Given the description of an element on the screen output the (x, y) to click on. 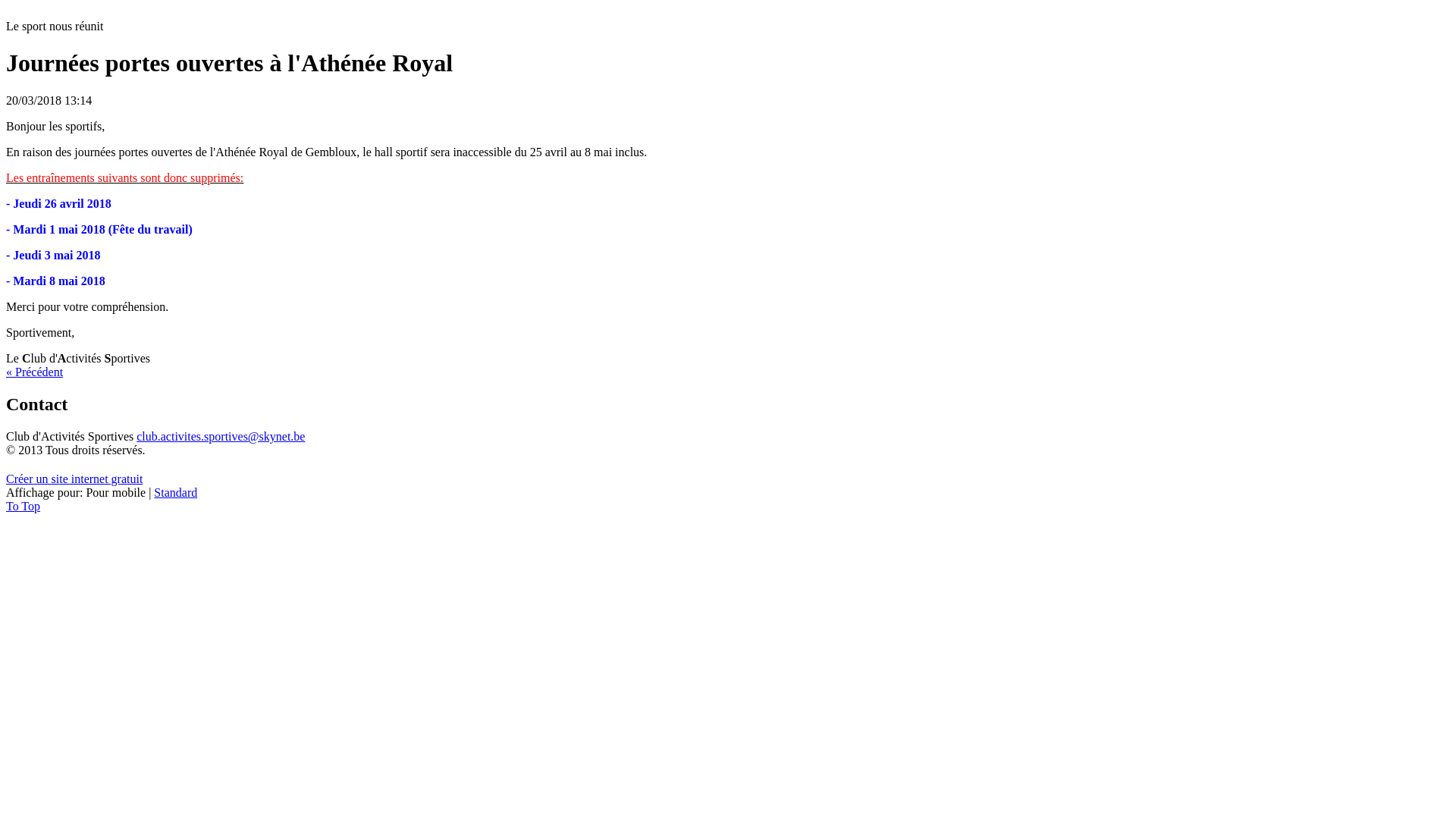
club.activites.sportives@skynet.be Element type: text (220, 435)
To Top Element type: text (23, 505)
Standard Element type: text (175, 492)
